Given the description of an element on the screen output the (x, y) to click on. 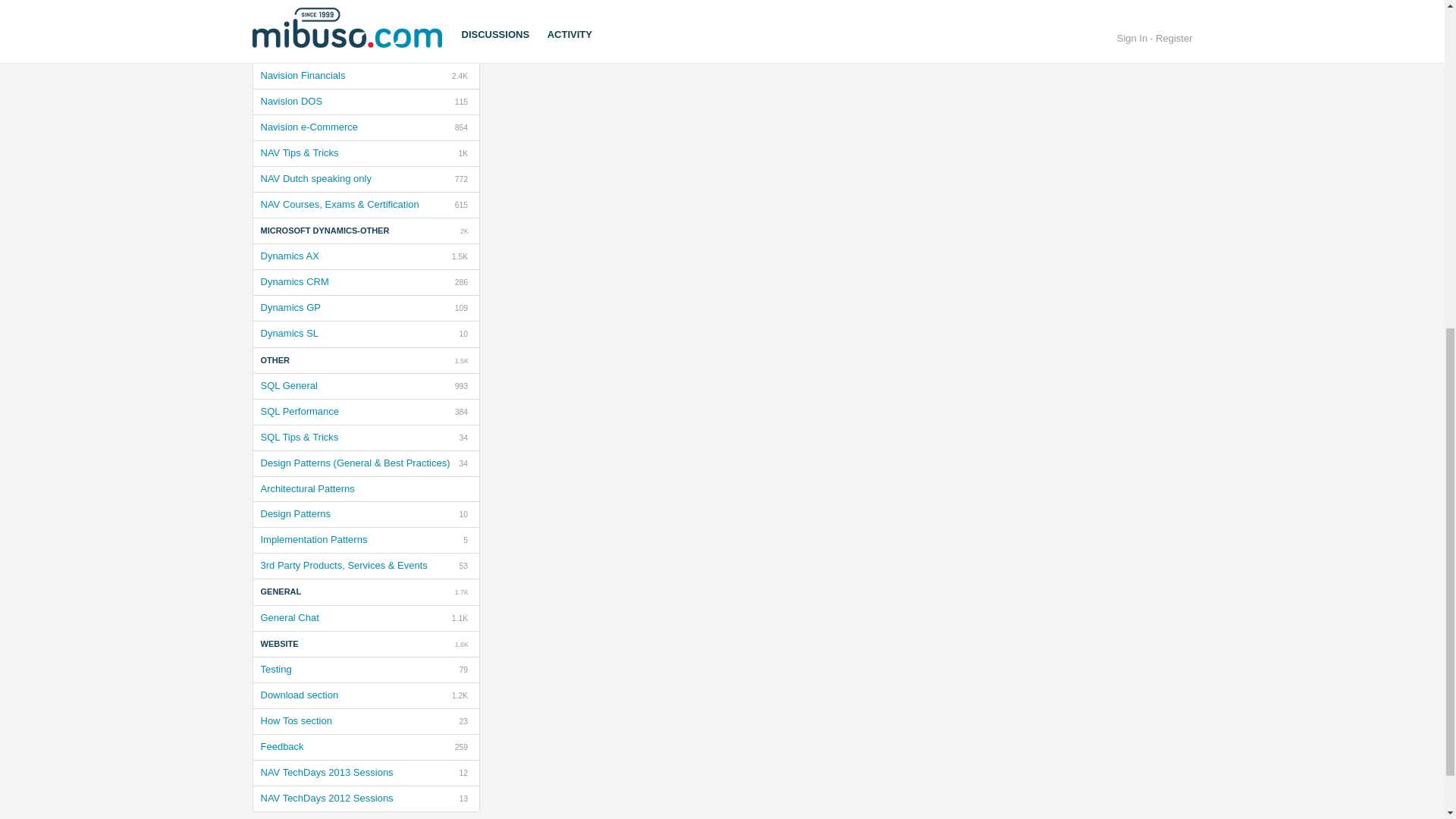
109 discussions (366, 333)
993 discussions (460, 307)
2,427 discussions (366, 256)
286 discussions (460, 386)
1,498 discussions (366, 539)
1,037 discussions (459, 76)
615 discussions (366, 48)
10 discussions (460, 282)
854 discussions (461, 360)
